Given the description of an element on the screen output the (x, y) to click on. 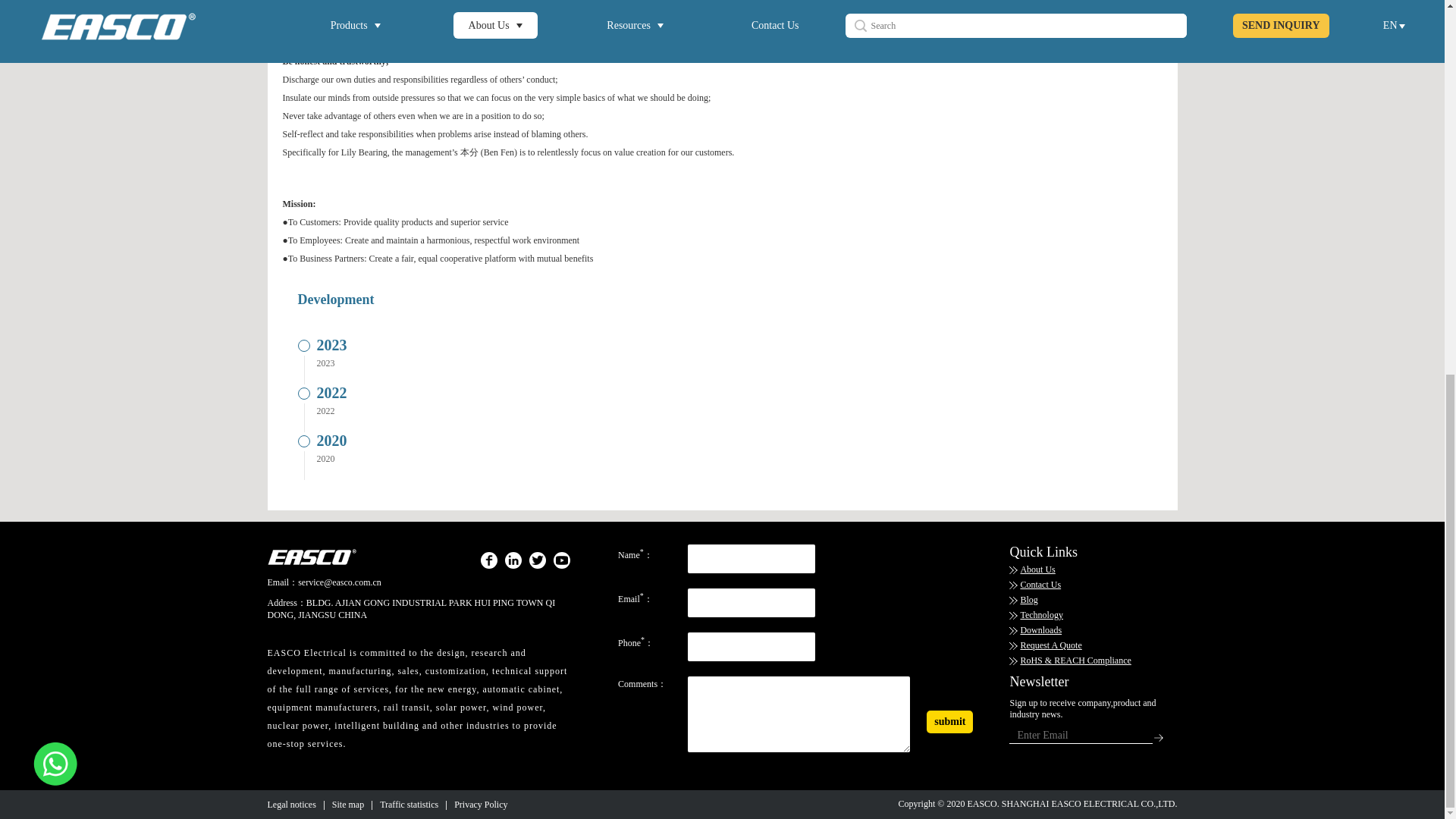
submit (949, 721)
